Given the description of an element on the screen output the (x, y) to click on. 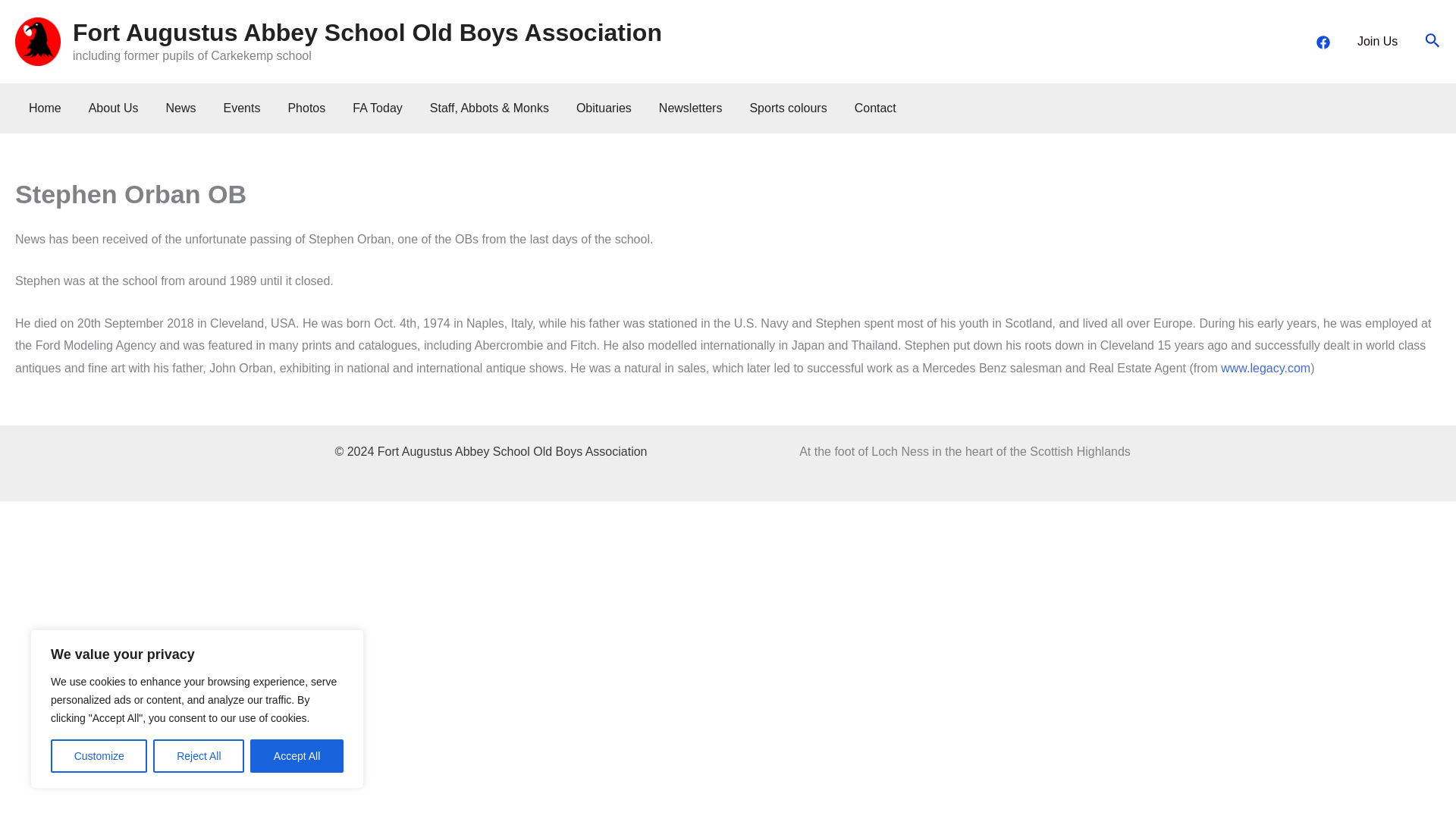
Customize (98, 756)
Obituaries (603, 108)
Reject All (198, 756)
Sports colours (787, 108)
Photos (306, 108)
Accept All (296, 756)
Events (242, 108)
Newsletters (690, 108)
FA Today (377, 108)
Home (44, 108)
